Given the description of an element on the screen output the (x, y) to click on. 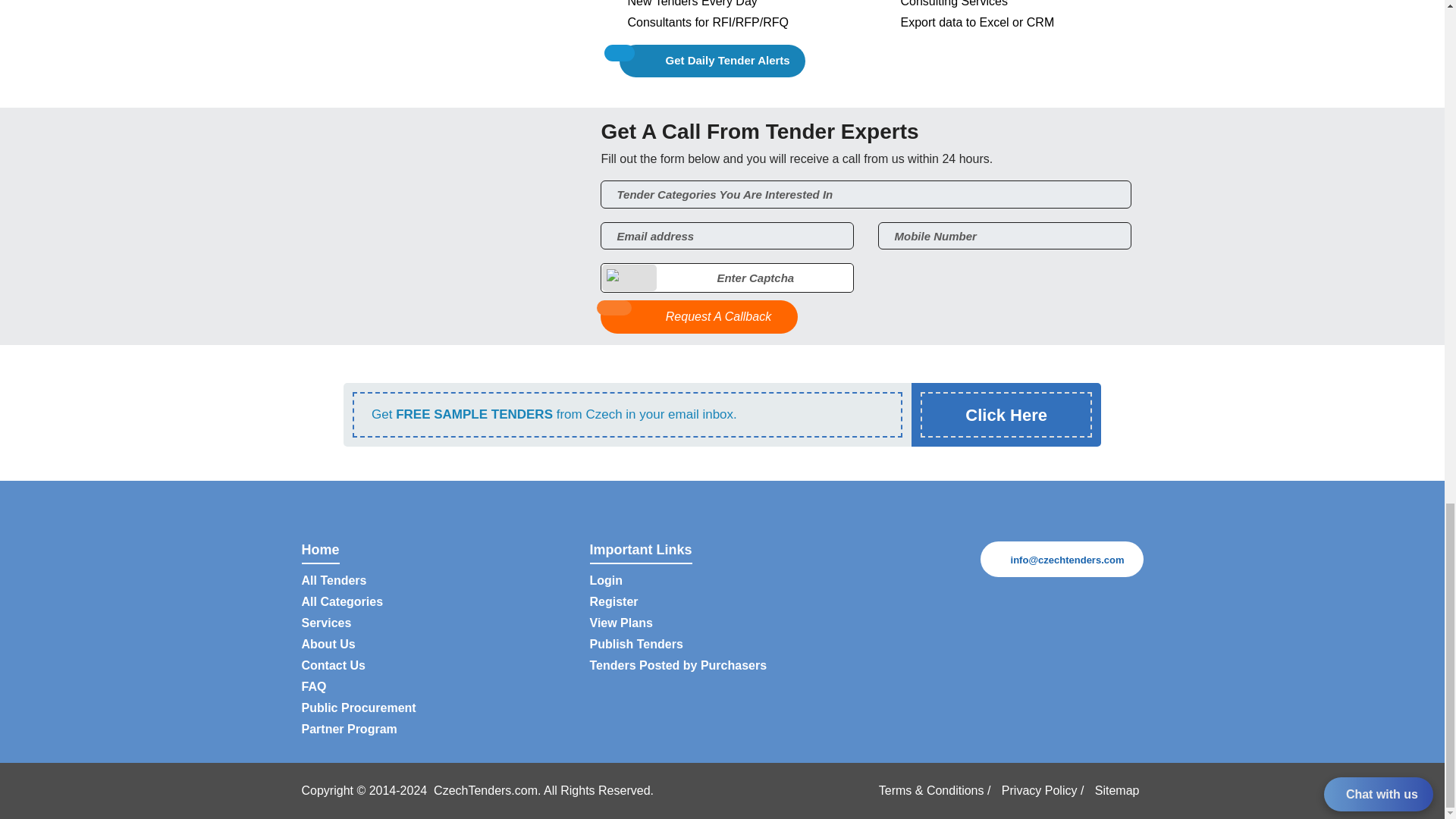
All Tenders (333, 580)
All Categories (342, 601)
Get Daily Tender Alerts (712, 60)
Request A Callback (698, 316)
Click Here (1006, 414)
Services (326, 622)
